Given the description of an element on the screen output the (x, y) to click on. 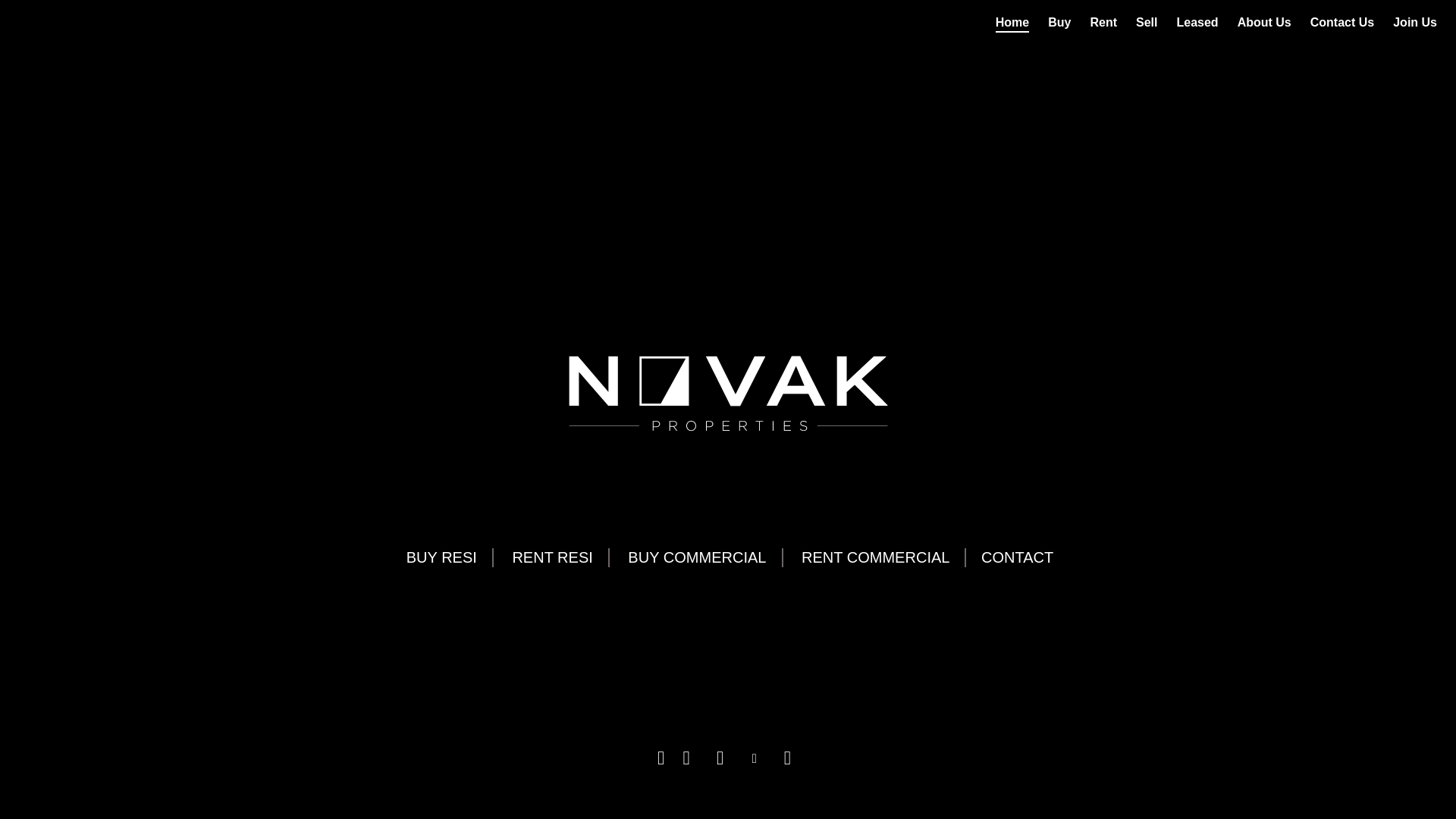
BUY RESI Element type: text (441, 558)
Leased Element type: text (1197, 22)
About Us Element type: text (1264, 22)
Buy Element type: text (1059, 22)
Contact Us Element type: text (1342, 22)
Rent Element type: text (1103, 22)
CONTACT Element type: text (1017, 558)
Join Us Element type: text (1415, 22)
Home Element type: text (1012, 22)
BUY COMMERCIAL Element type: text (696, 558)
Sell Element type: text (1146, 22)
RENT RESI Element type: text (552, 558)
RENT COMMERCIAL Element type: text (875, 558)
